Given the description of an element on the screen output the (x, y) to click on. 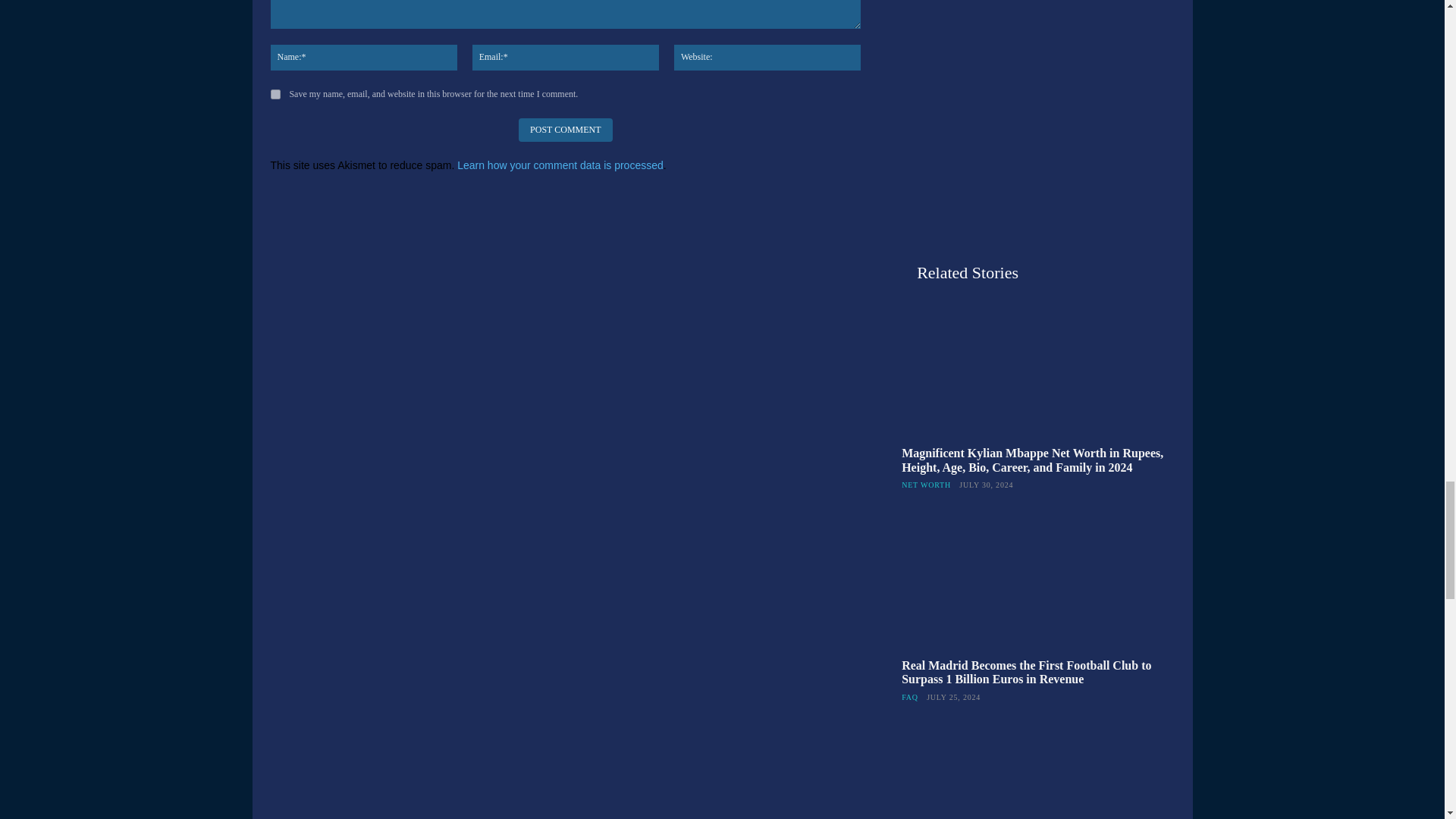
Post Comment (564, 129)
yes (274, 94)
